Given the description of an element on the screen output the (x, y) to click on. 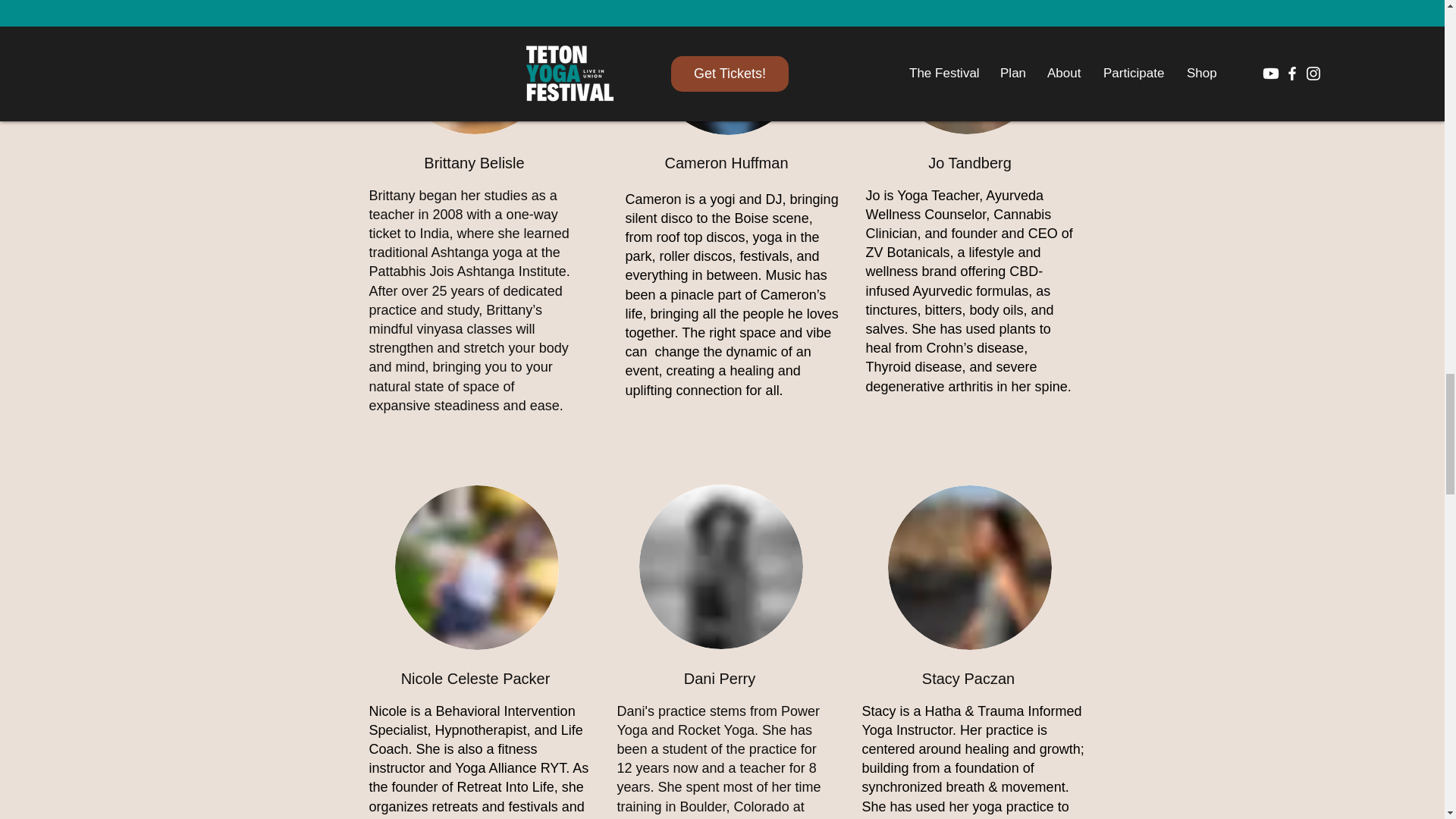
Deidre Norman (474, 67)
Deidre Norman (475, 567)
Tanya Mark (727, 67)
Deidre Norman (968, 567)
Dorian (720, 566)
Dorian (967, 67)
